Given the description of an element on the screen output the (x, y) to click on. 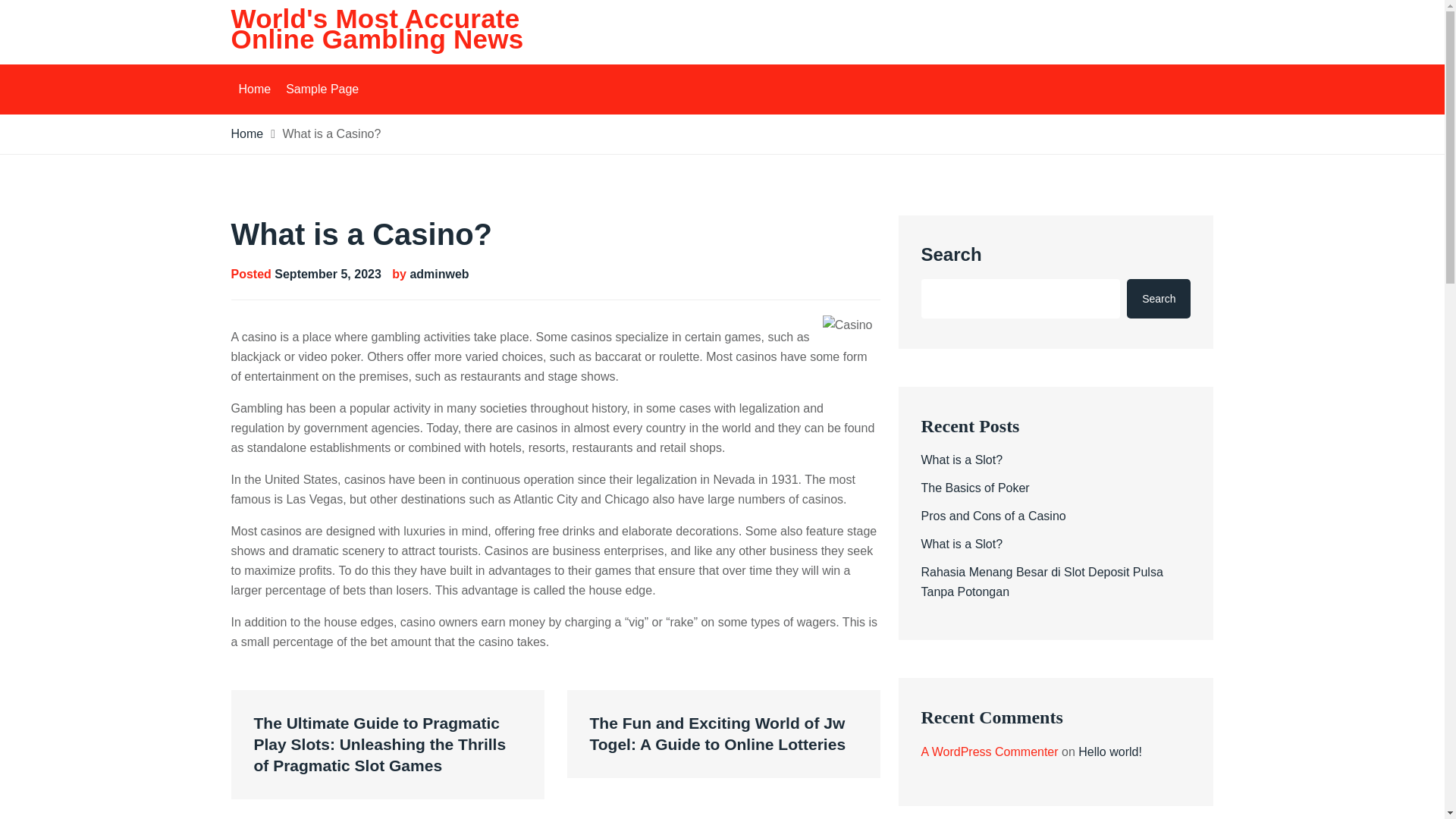
Hello world! (1109, 751)
September 5, 2023 (328, 273)
Sample Page (322, 89)
What is a Slot? (961, 459)
What is a Slot? (961, 543)
Home (246, 133)
World's Most Accurate Online Gambling News (376, 29)
Pros and Cons of a Casino (992, 515)
Home (254, 89)
Rahasia Menang Besar di Slot Deposit Pulsa Tanpa Potongan (1040, 581)
adminweb (438, 273)
A WordPress Commenter (989, 751)
The Basics of Poker (974, 487)
